Given the description of an element on the screen output the (x, y) to click on. 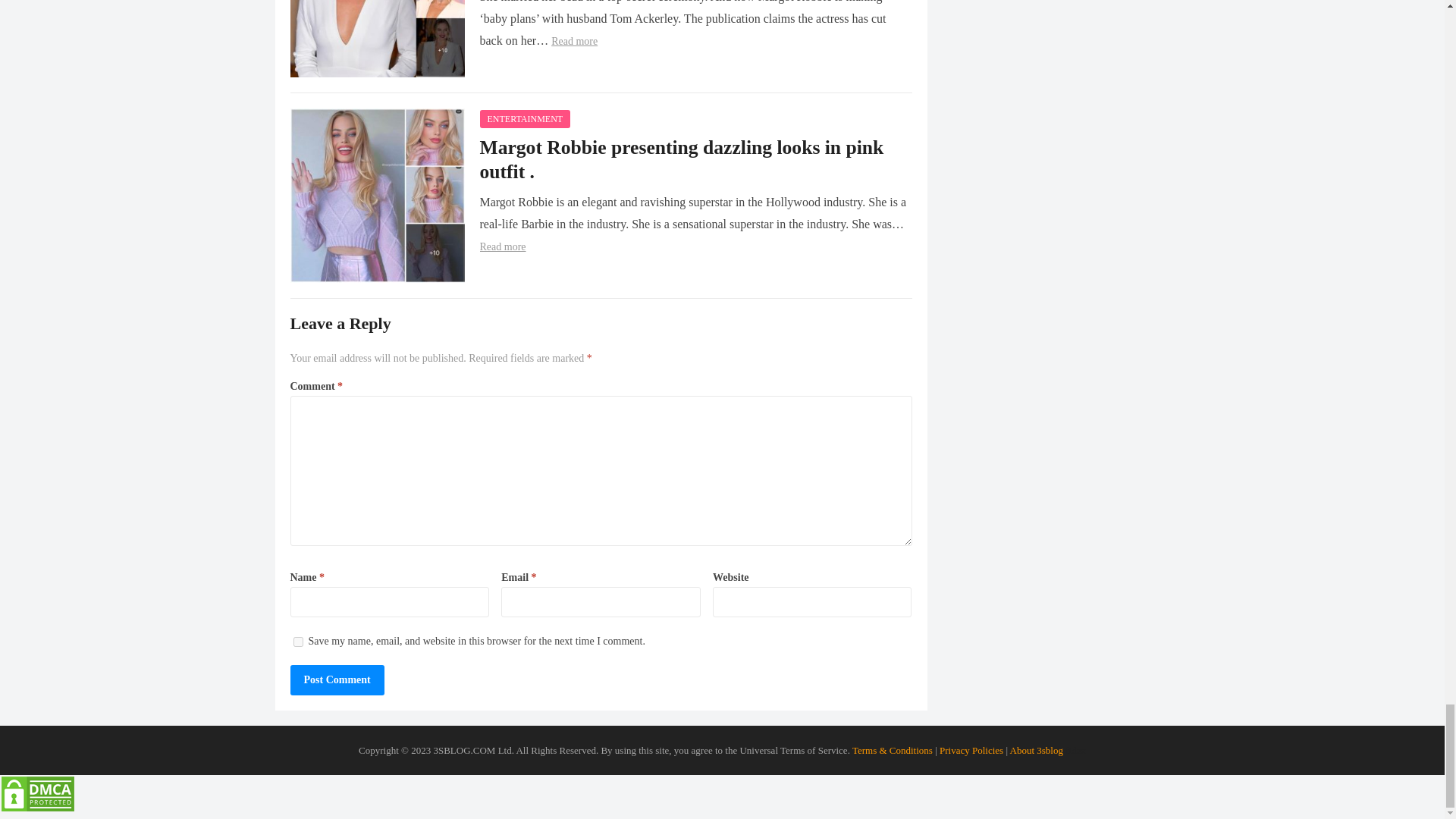
DMCA.com Protection Status (37, 808)
Post Comment (336, 680)
yes (297, 642)
